Given the description of an element on the screen output the (x, y) to click on. 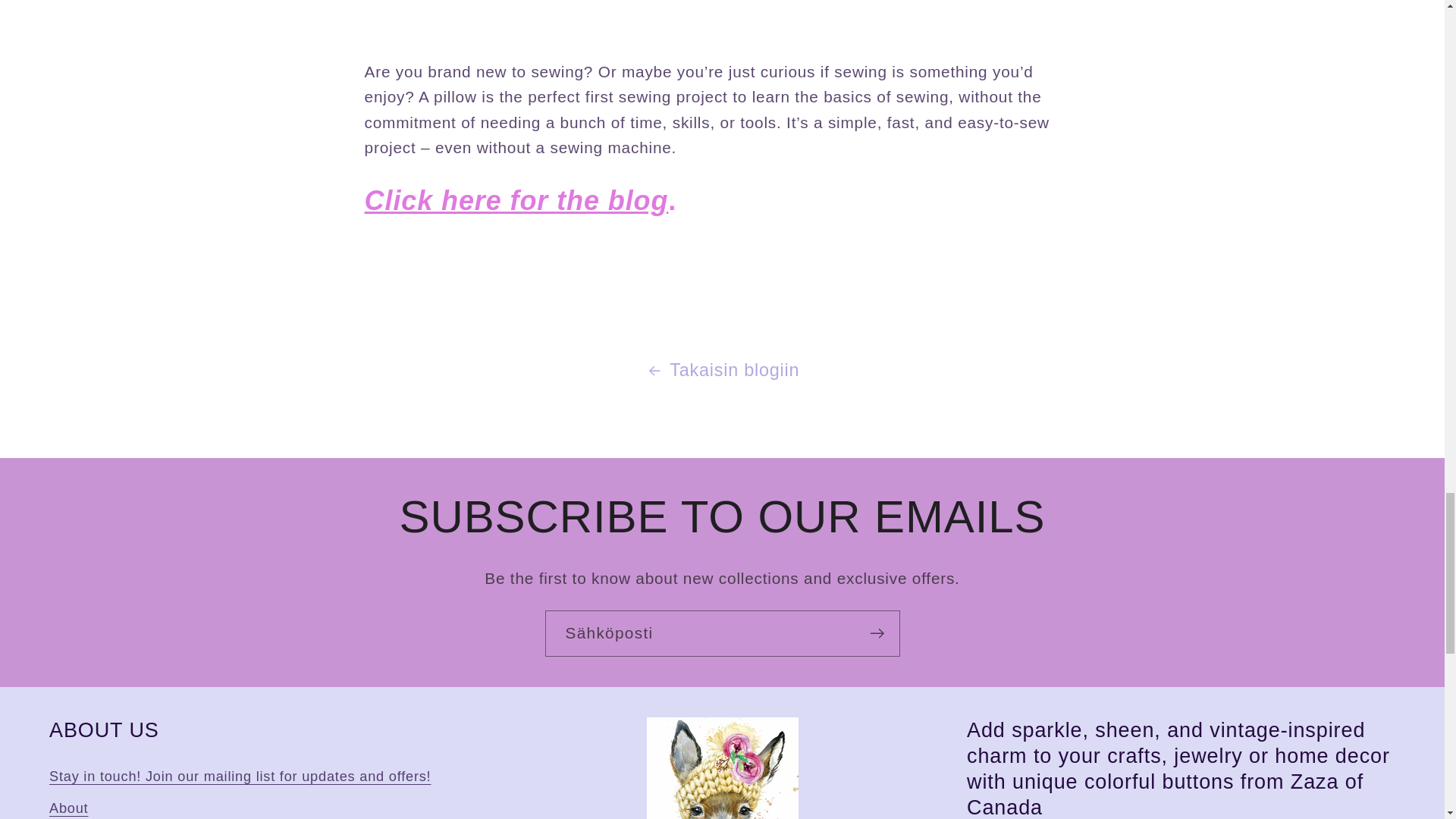
how to make pillowcase step by step (516, 200)
YouTube video player (695, 18)
